Given the description of an element on the screen output the (x, y) to click on. 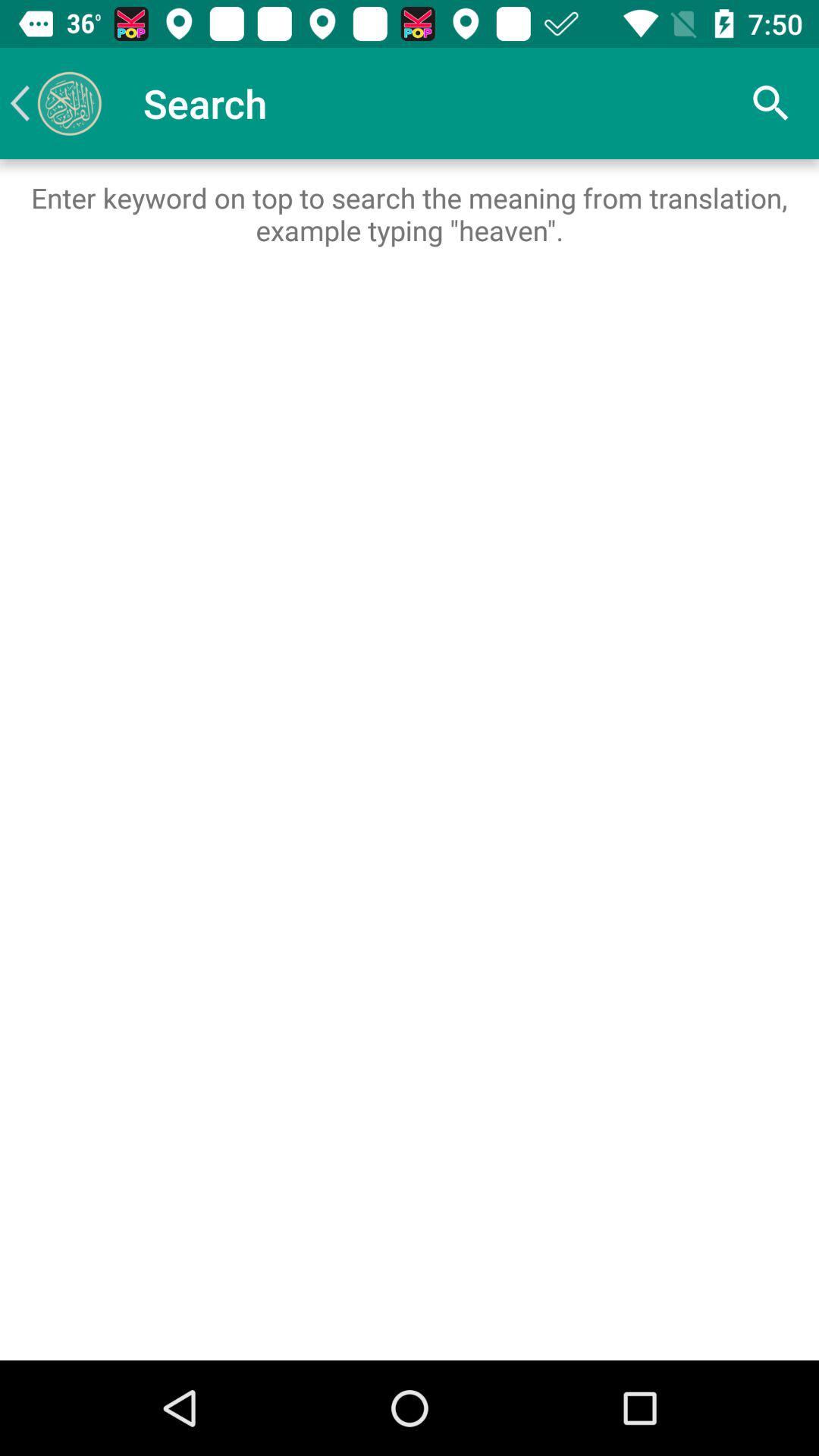
press item next to the search icon (55, 103)
